Given the description of an element on the screen output the (x, y) to click on. 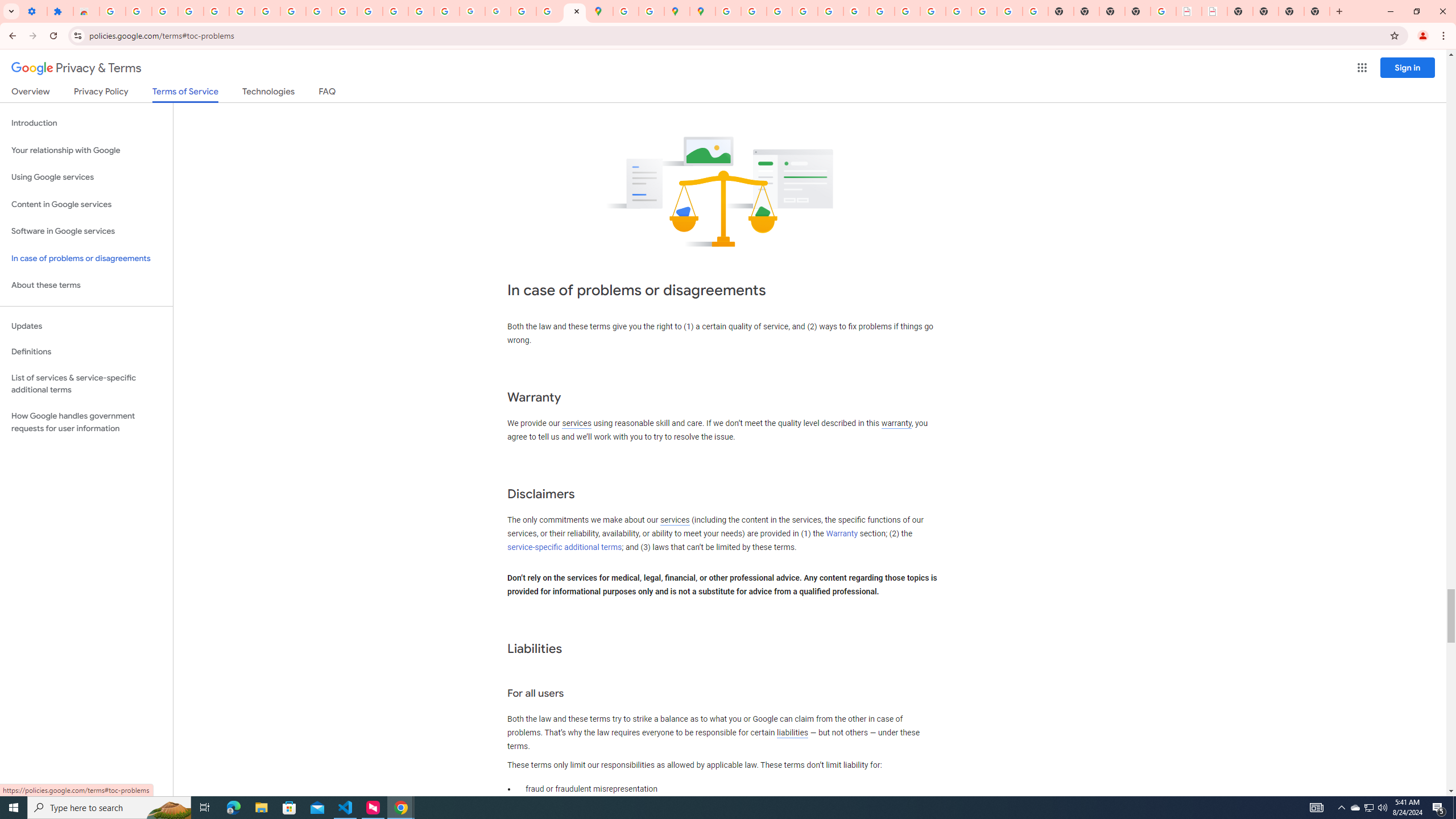
Software in Google services (86, 230)
Privacy Help Center - Policies Help (804, 11)
Safety in Our Products - Google Safety Center (651, 11)
Reviews: Helix Fruit Jump Arcade Game (86, 11)
Warranty (841, 533)
